Given the description of an element on the screen output the (x, y) to click on. 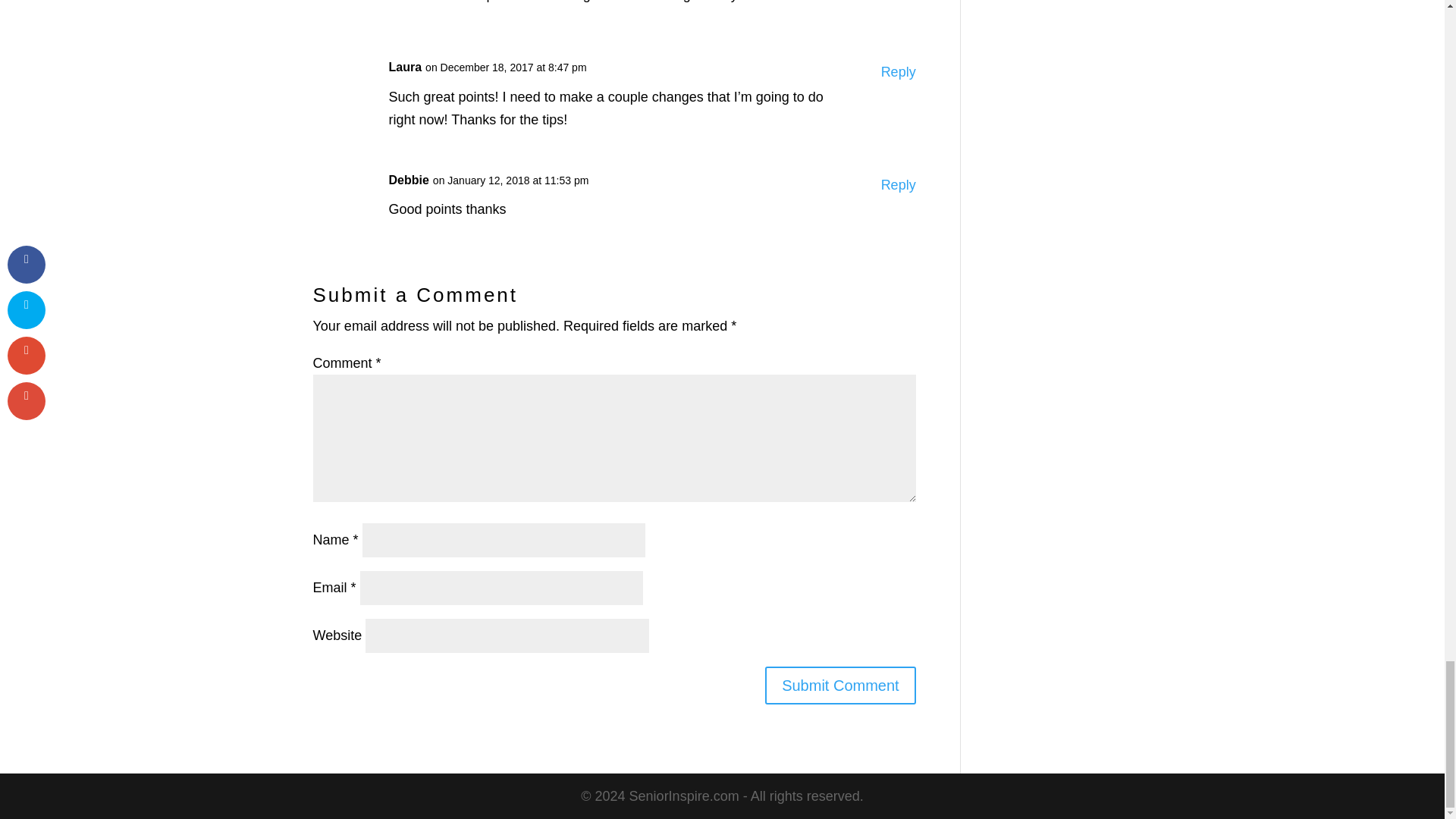
Reply (897, 185)
Laura (405, 67)
Submit Comment (840, 685)
Debbie (408, 180)
Reply (897, 72)
Submit Comment (840, 685)
